Given the description of an element on the screen output the (x, y) to click on. 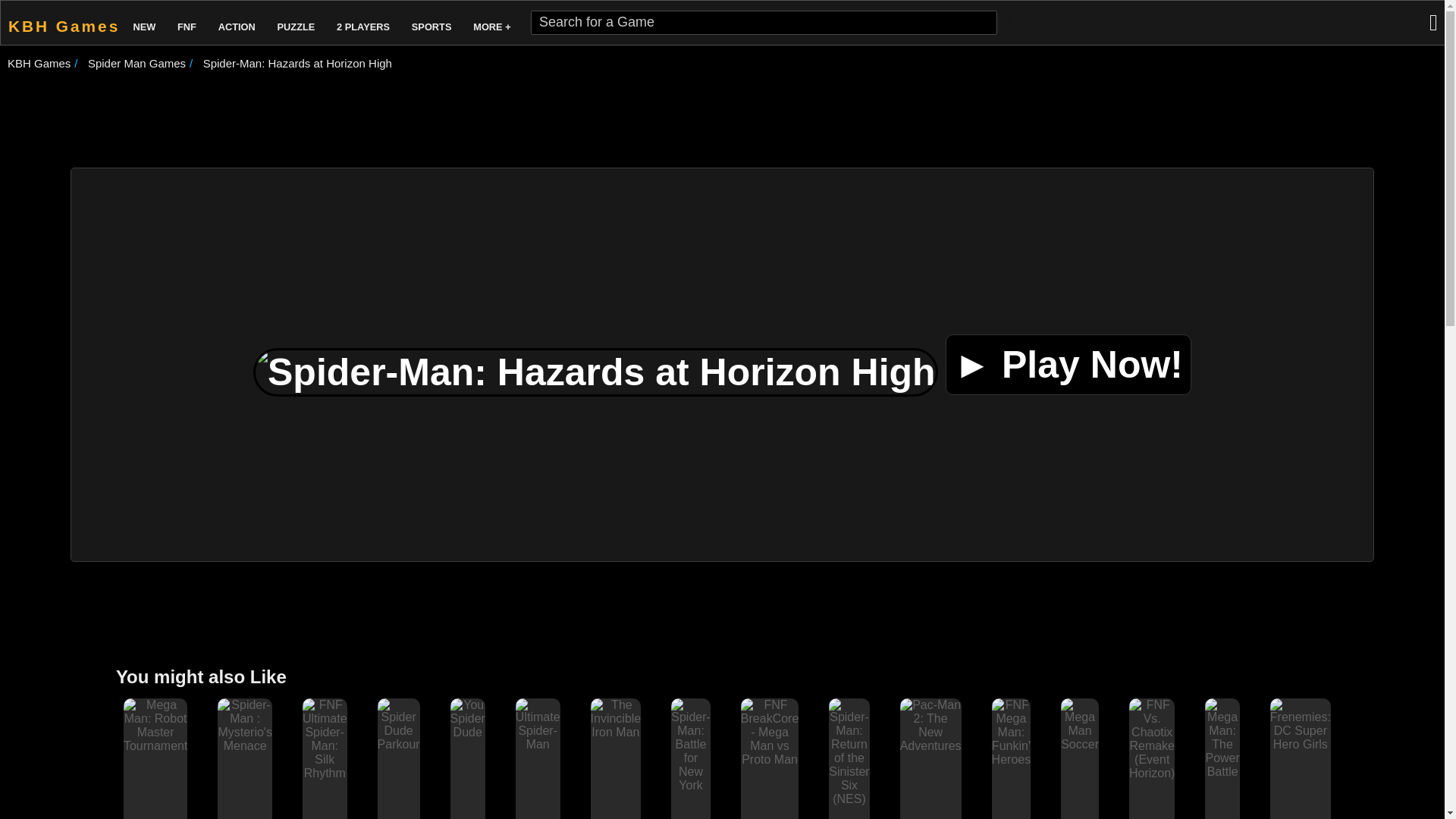
KBH Games (38, 62)
The Invincible Iron Man (616, 718)
Spider Man Games (136, 62)
FNF Ultimate Spider-Man: Silk Rhythm (324, 772)
Mega Man: Robot Master Tournament (155, 725)
SPORTS (432, 22)
Mega Man: Robot Master Tournament (155, 745)
PUZZLE (295, 22)
Spider-Man : Mysterio's Menace (244, 725)
Pac-Man 2: The New Adventures (929, 725)
